Given the description of an element on the screen output the (x, y) to click on. 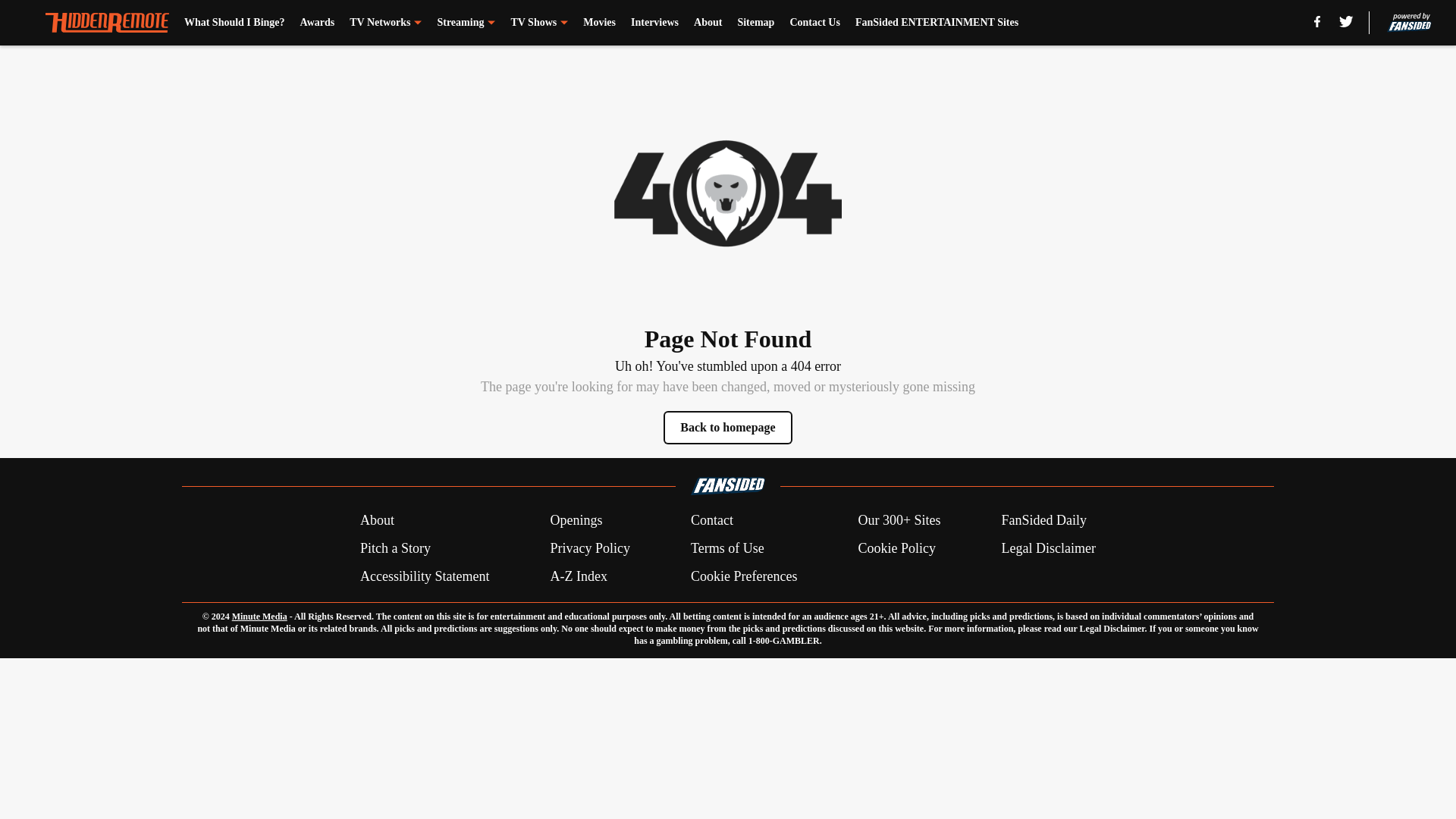
Contact Us (814, 22)
What Should I Binge? (234, 22)
Interviews (654, 22)
Pitch a Story (394, 548)
FanSided Daily (1044, 520)
About (708, 22)
Movies (599, 22)
Back to homepage (727, 427)
Contact (711, 520)
Error image (727, 193)
